Given the description of an element on the screen output the (x, y) to click on. 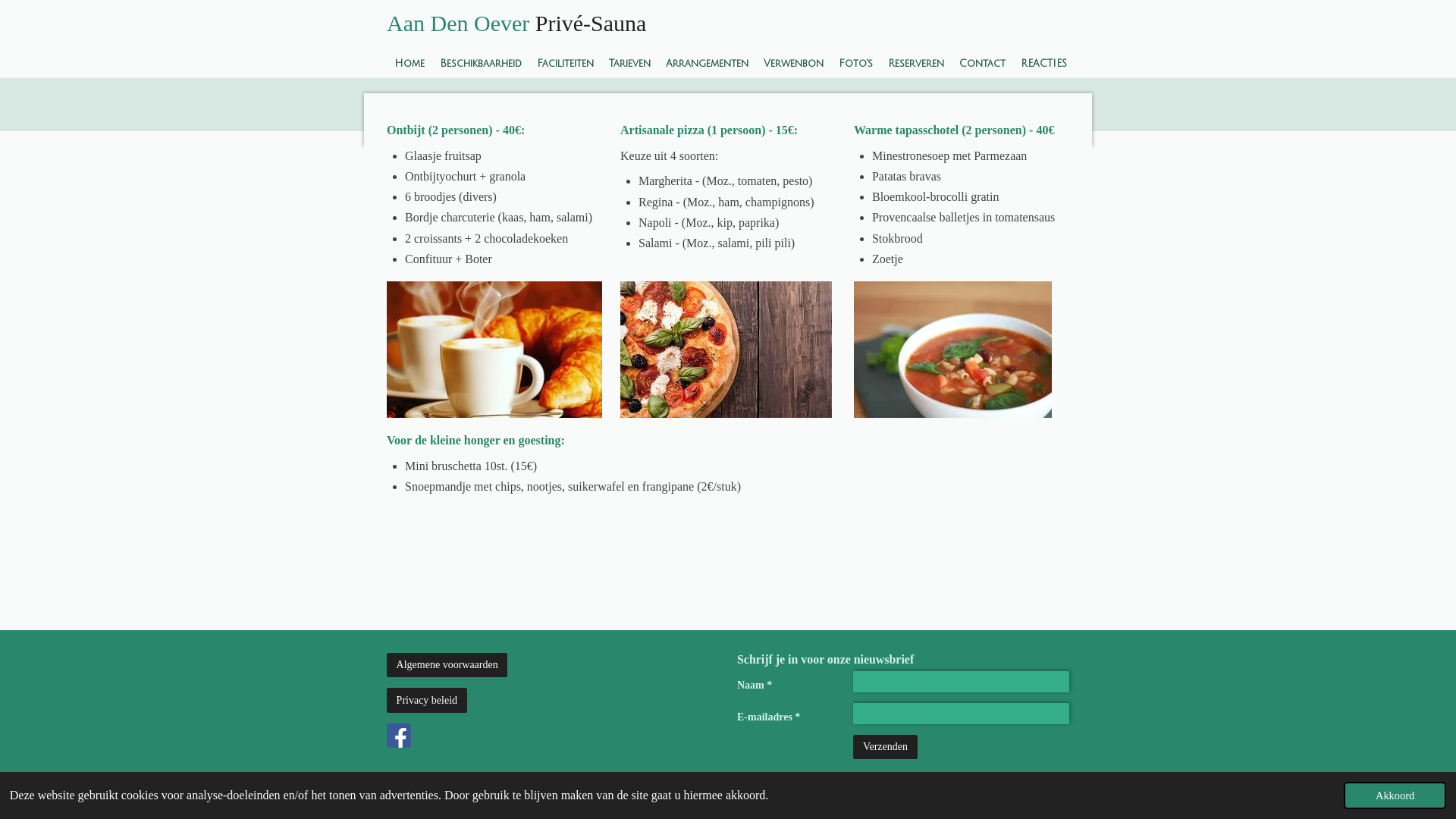
Akkoord Element type: text (1394, 795)
Arrangementen Element type: text (707, 63)
Reserveren Element type: text (915, 63)
Foto's Element type: text (855, 63)
REACTIES Element type: text (1043, 63)
Verzenden Element type: text (884, 746)
Tarieven Element type: text (629, 63)
Beschikbaarheid Element type: text (480, 63)
Contact Element type: text (982, 63)
Verwenbon Element type: text (793, 63)
Privacy beleid Element type: text (426, 699)
Faciliteiten Element type: text (565, 63)
Algemene voorwaarden Element type: text (446, 664)
Home Element type: text (409, 63)
